Given the description of an element on the screen output the (x, y) to click on. 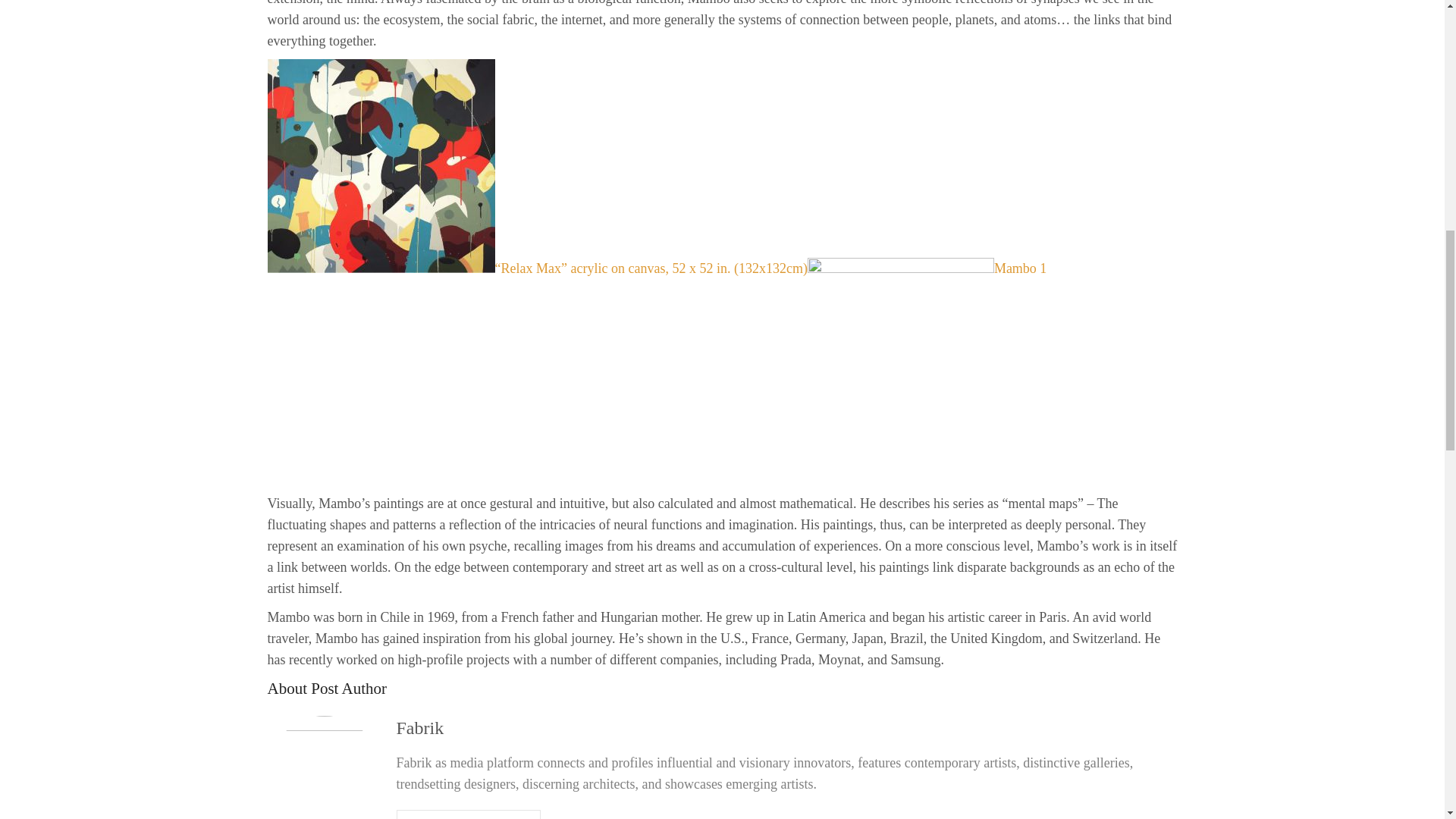
Mambo 1 (927, 268)
